Given the description of an element on the screen output the (x, y) to click on. 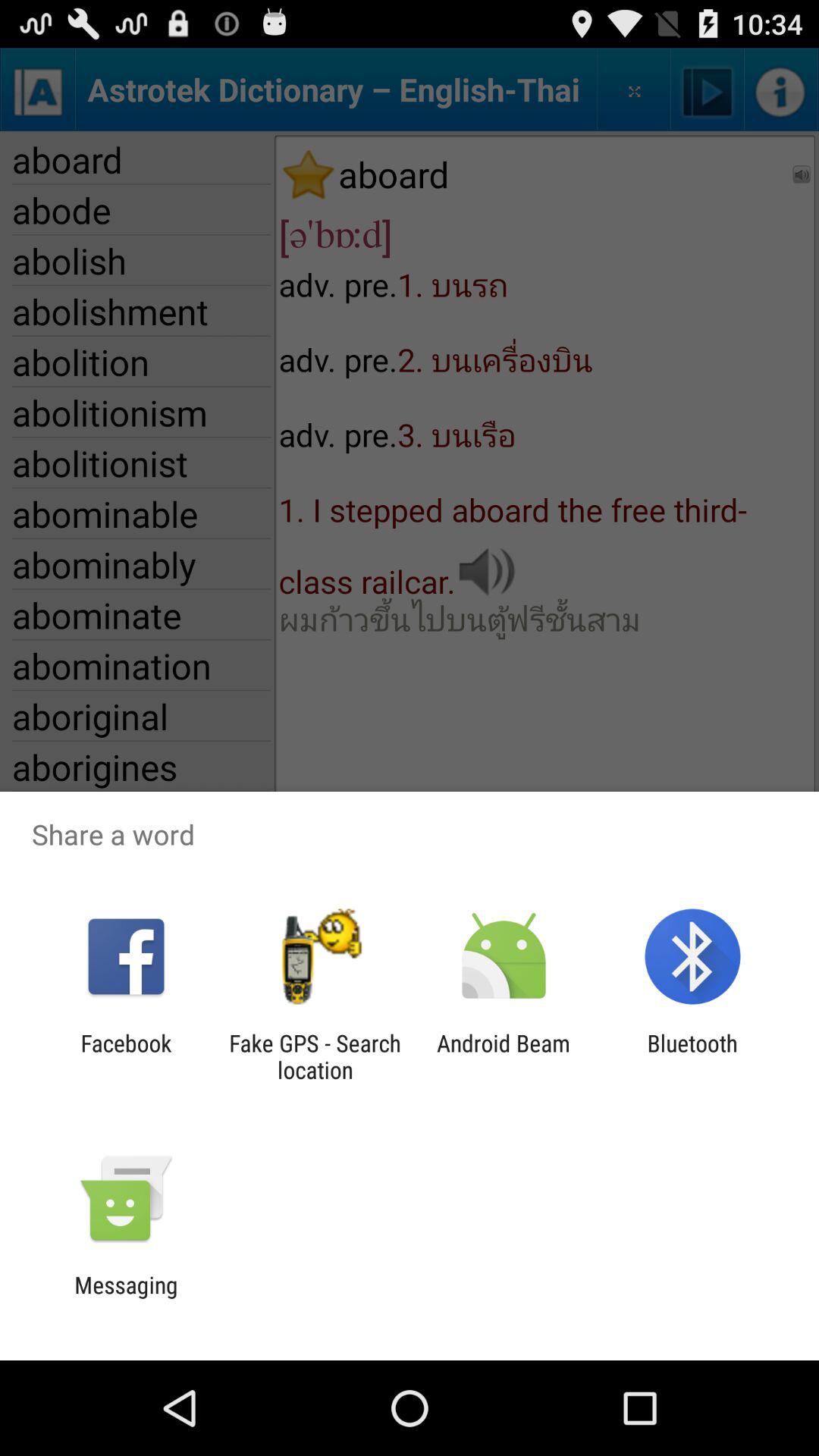
choose the fake gps search (314, 1056)
